Given the description of an element on the screen output the (x, y) to click on. 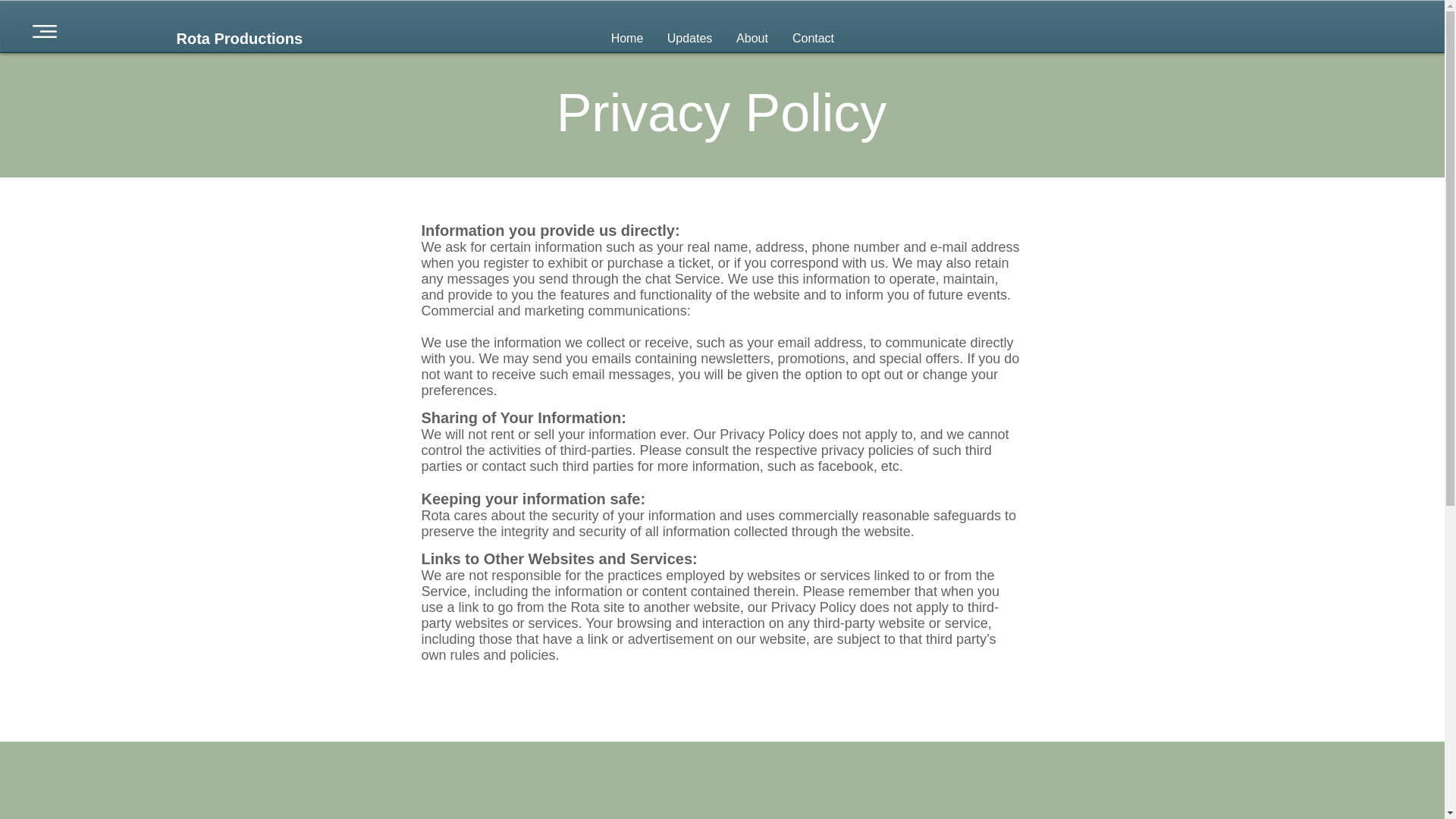
Rota Productions (240, 38)
About (751, 38)
Updates (689, 38)
Contact (812, 38)
Home (627, 38)
